Given the description of an element on the screen output the (x, y) to click on. 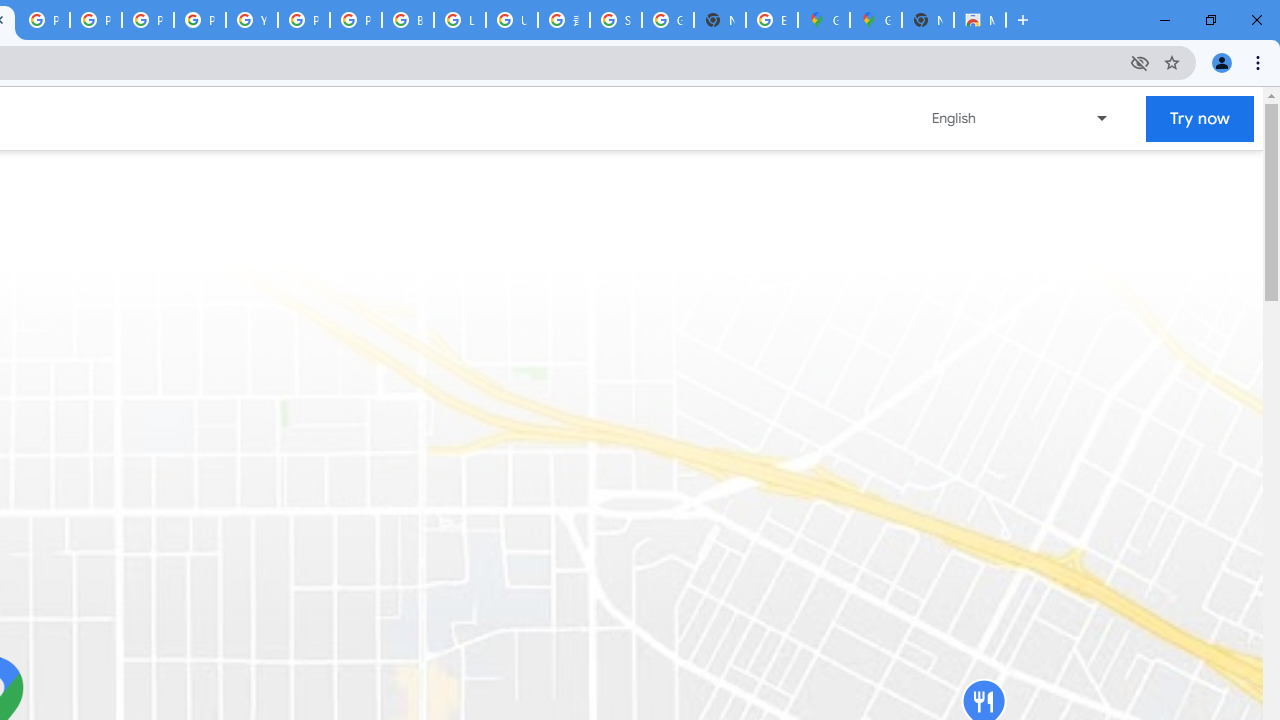
New Tab (927, 20)
Privacy Help Center - Policies Help (147, 20)
Explore new street-level details - Google Maps Help (771, 20)
Third-party cookies blocked (1139, 62)
Privacy Help Center - Policies Help (95, 20)
Google Maps (823, 20)
Try now (1199, 118)
Policy Accountability and Transparency - Transparency Center (43, 20)
Browse Chrome as a guest - Computer - Google Chrome Help (407, 20)
